Given the description of an element on the screen output the (x, y) to click on. 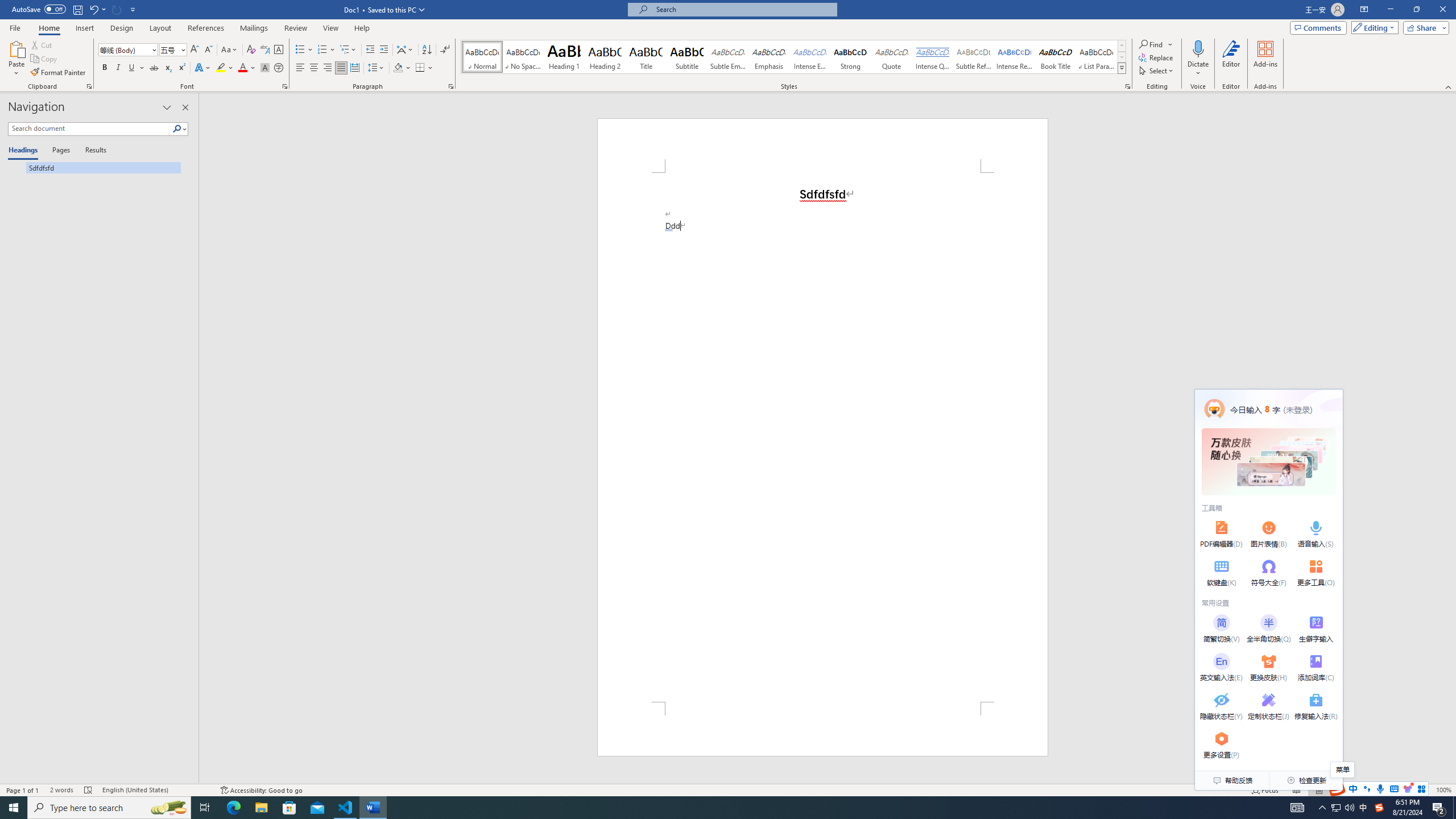
Book Title (1055, 56)
